Given the description of an element on the screen output the (x, y) to click on. 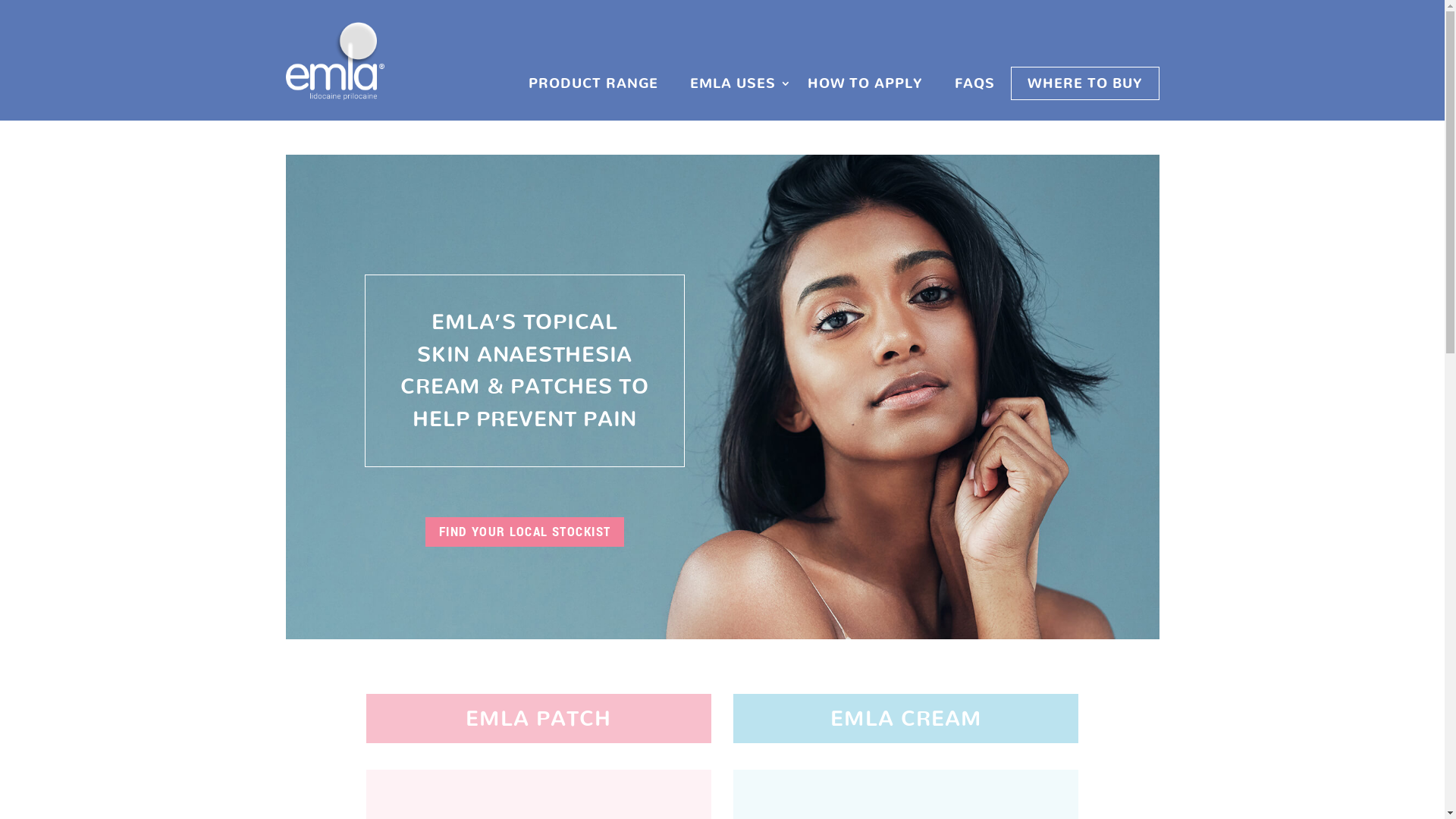
WHERE TO BUY Element type: text (1084, 83)
PRODUCT RANGE Element type: text (592, 83)
FIND YOUR LOCAL STOCKIST Element type: text (524, 531)
HOW TO APPLY Element type: text (865, 83)
EMLA USES Element type: text (732, 83)
FAQS Element type: text (974, 83)
